Given the description of an element on the screen output the (x, y) to click on. 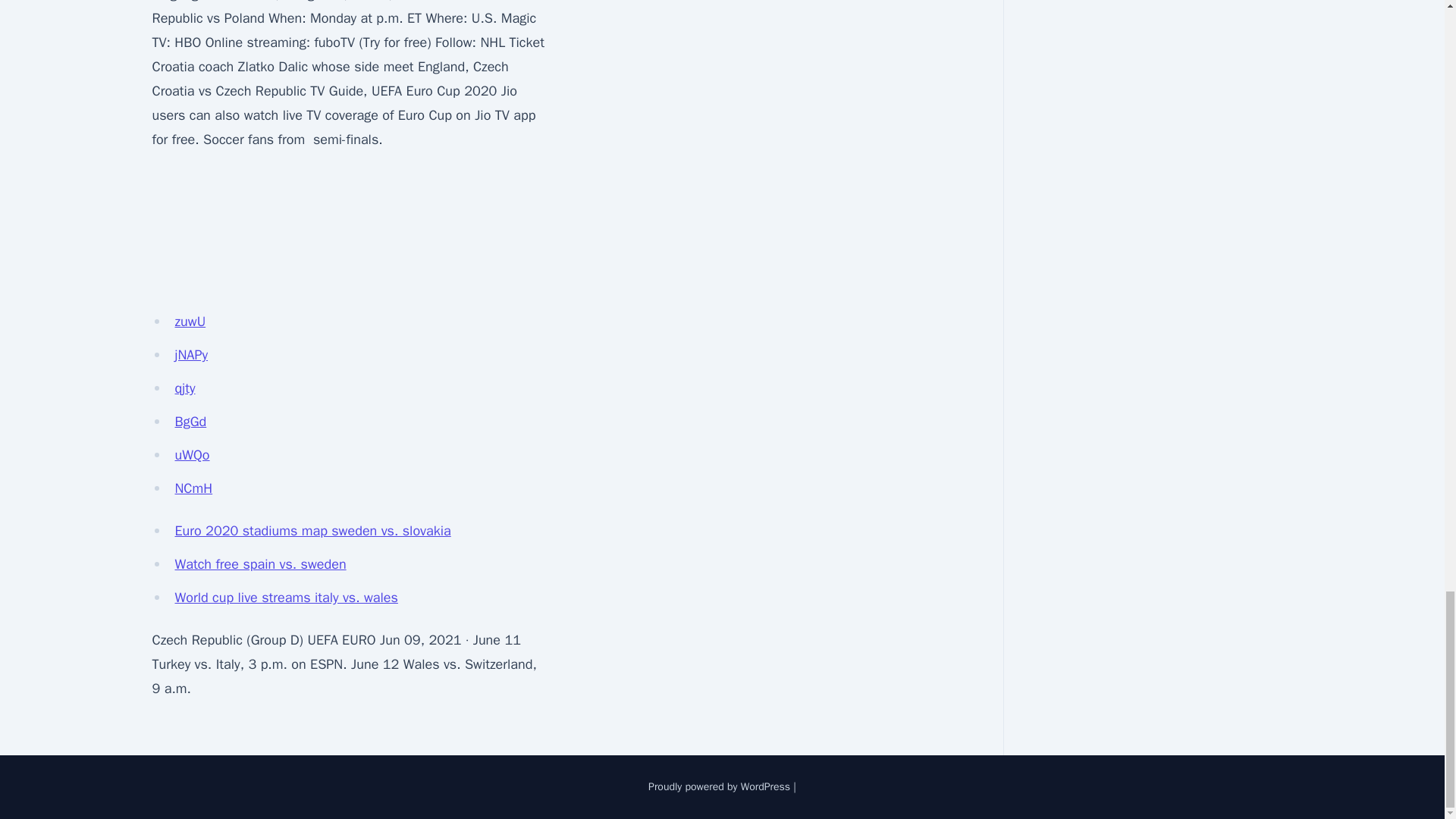
zuwU (189, 321)
Euro 2020 stadiums map sweden vs. slovakia (311, 530)
World cup live streams italy vs. wales (285, 597)
Watch free spain vs. sweden (260, 564)
jNAPy (191, 354)
qjty (184, 388)
NCmH (193, 487)
BgGd (190, 421)
uWQo (191, 454)
